Given the description of an element on the screen output the (x, y) to click on. 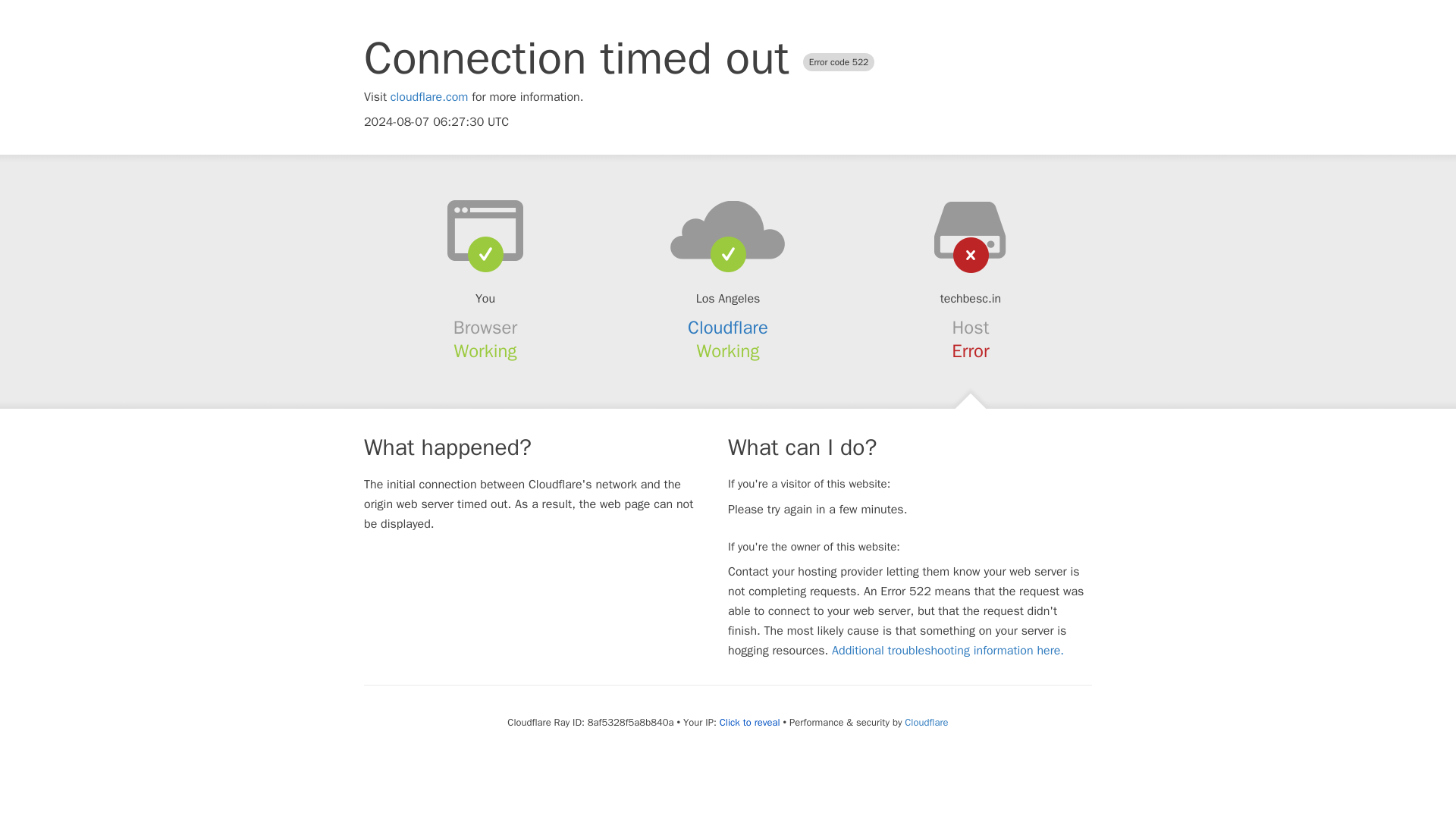
Cloudflare (727, 327)
cloudflare.com (429, 96)
Cloudflare (925, 721)
Click to reveal (749, 722)
Additional troubleshooting information here. (947, 650)
